Given the description of an element on the screen output the (x, y) to click on. 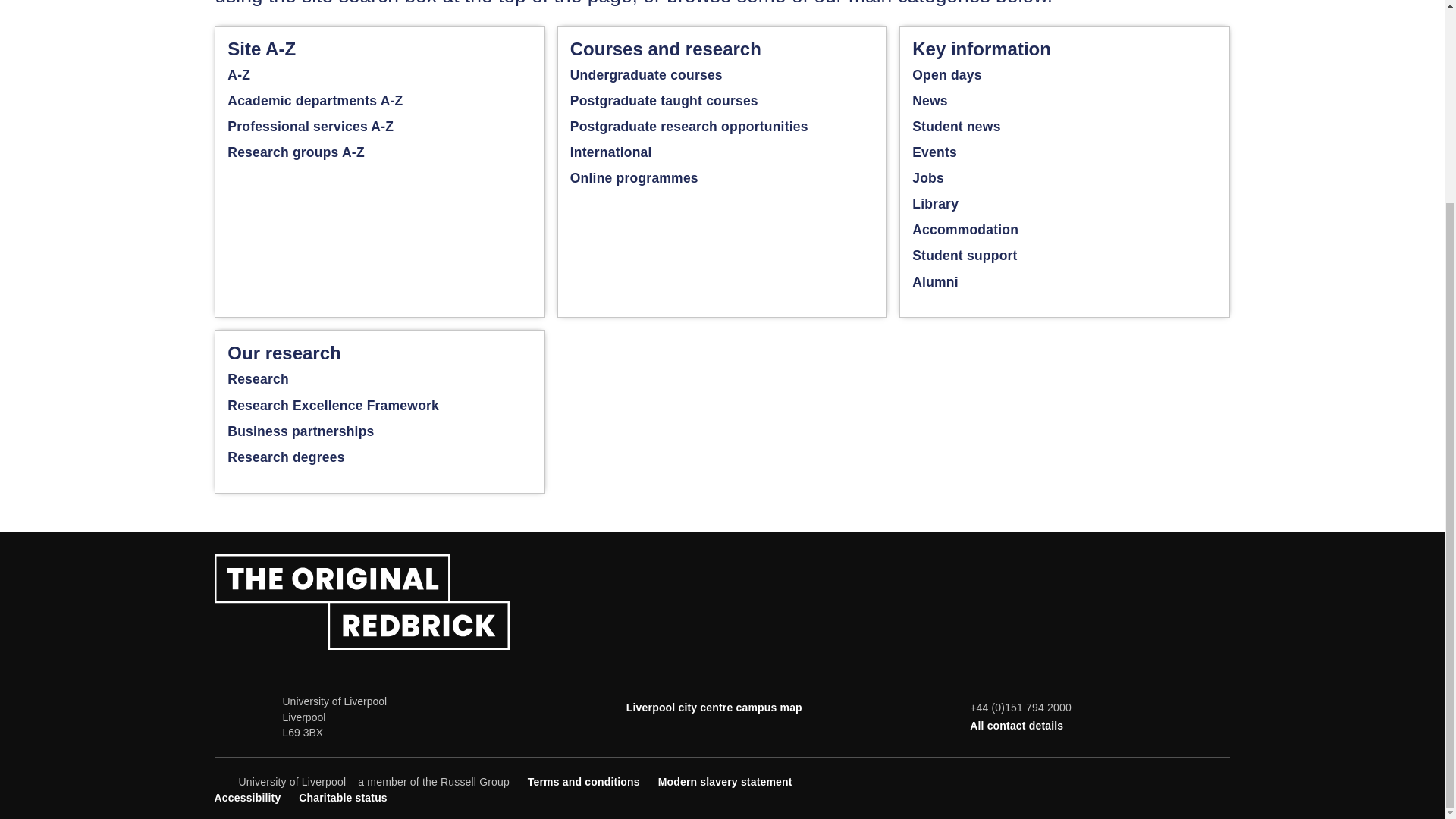
instagram (1196, 779)
facebook (1121, 779)
youtube (1170, 779)
Terms and Conditions (583, 781)
Modern slavery statement (725, 781)
Contact us (1015, 725)
twitter (1146, 779)
Accommodations (964, 229)
Student support (964, 255)
Jobs (927, 177)
